Given the description of an element on the screen output the (x, y) to click on. 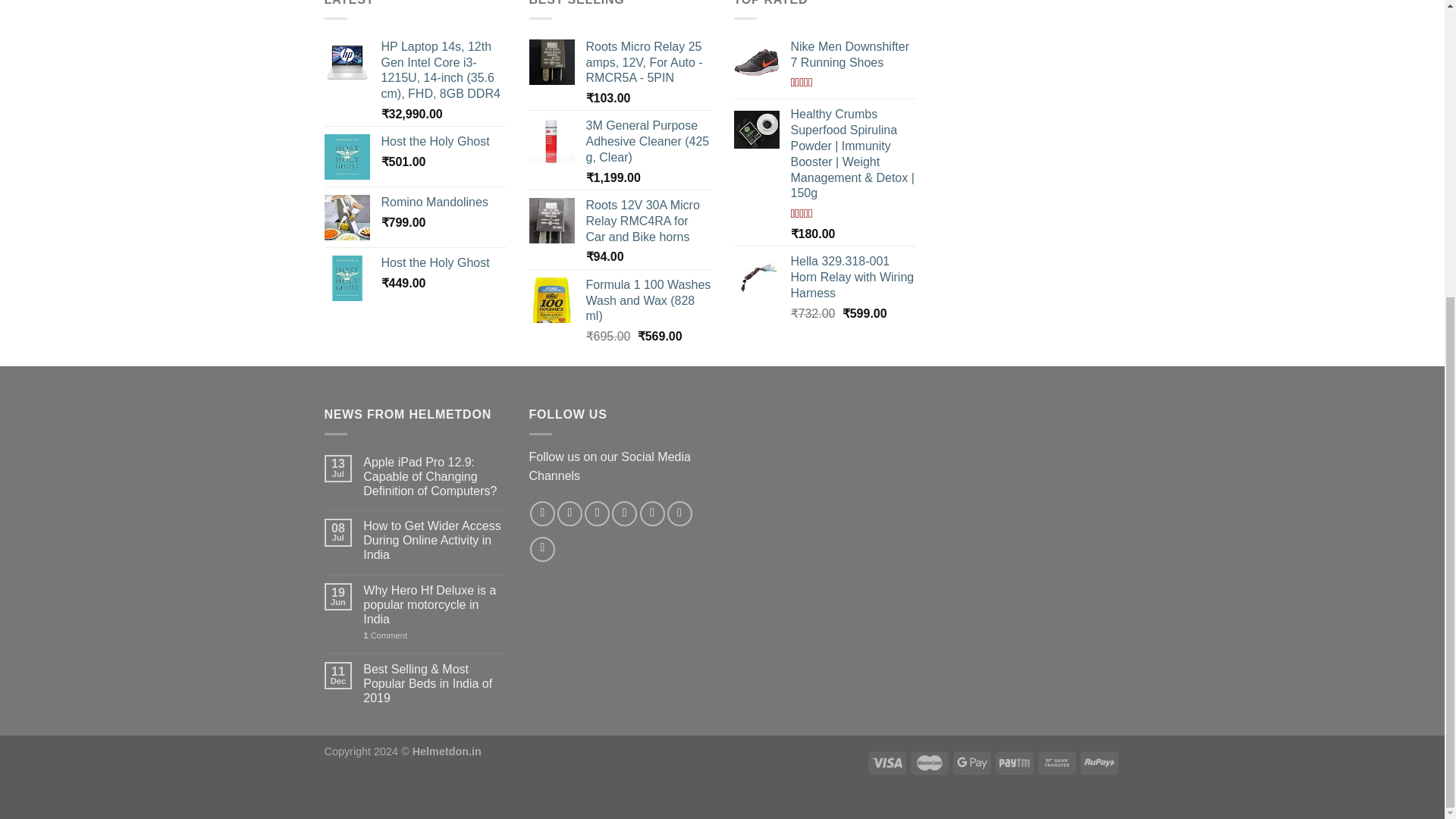
Roots Micro Relay 25 amps, 12V, For Auto - RMCR5A - 5PIN 5 (552, 62)
Romino Mandolines (442, 202)
Romino Mandolines 3 (346, 217)
Roots 12V 30A Micro Relay RMC4RA for Car and Bike horns (647, 221)
Hella 329.318-001 Horn Relay with Wiring Harness (852, 277)
How to Get Wider Access During Online Activity in India (433, 540)
Host the Holy Ghost (442, 141)
Why Hero Hf Deluxe is a popular motorcycle in India (433, 605)
Roots Micro Relay 25 amps, 12V, For Auto - RMCR5A - 5PIN (647, 62)
Host the Holy Ghost (442, 263)
Nike Men Downshifter 7 Running Shoes (852, 55)
Host the Holy Ghost 2 (346, 156)
Host the Holy Ghost 4 (346, 278)
1 Comment (433, 635)
